Given the description of an element on the screen output the (x, y) to click on. 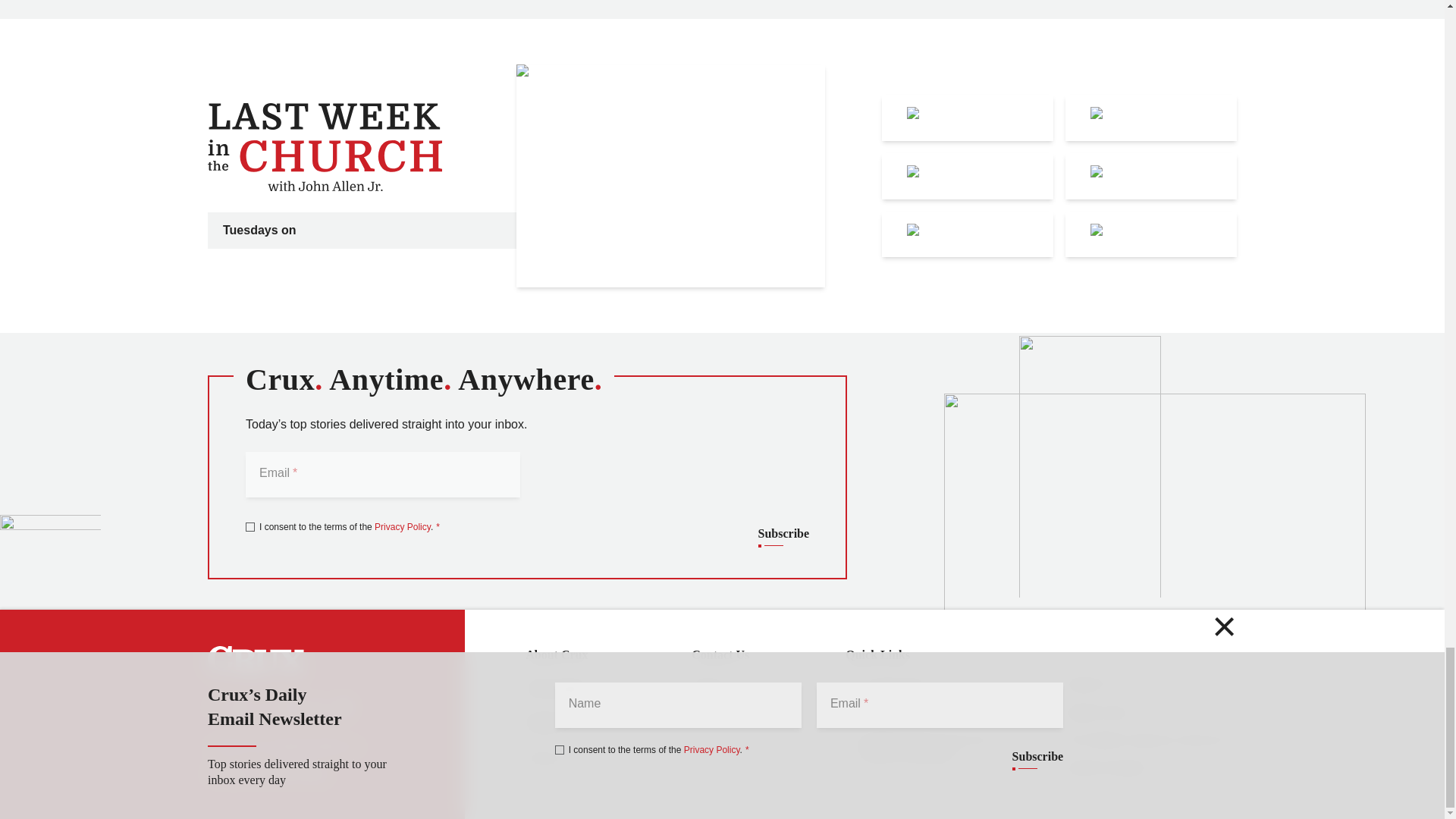
true (250, 526)
